Given the description of an element on the screen output the (x, y) to click on. 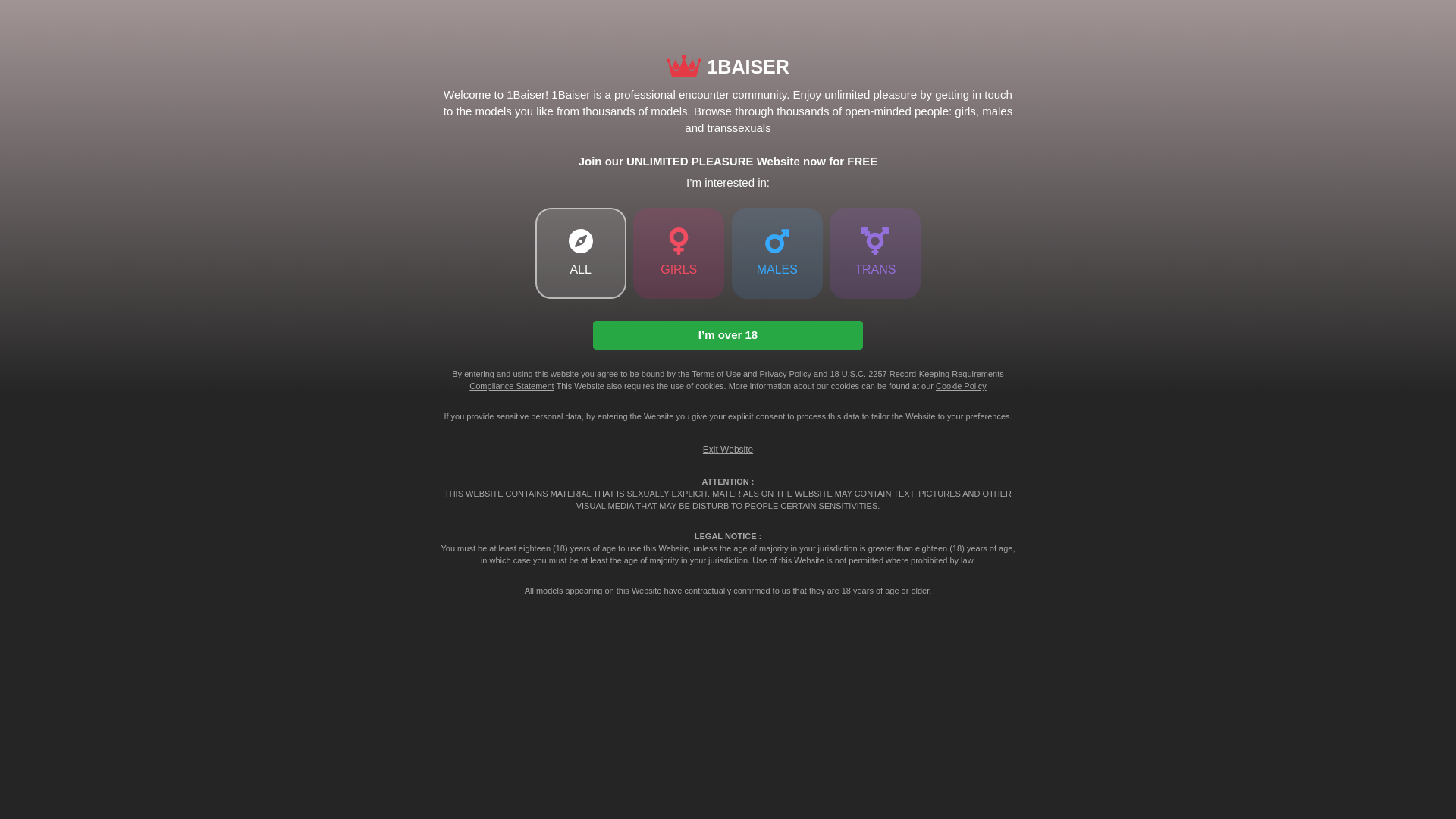
Seine-et-Marne
31 Element type: text (728, 134)
Paris
314 Element type: text (150, 65)
Gironde
35 Element type: text (728, 65)
Montpellier
23 Element type: text (1305, 65)
Nantes
28 Element type: text (1016, 111)
Nice
22 Element type: text (1305, 111)
Seine-Saint-Denis
39 Element type: text (439, 88)
Sign up Element type: text (1406, 19)
Haute-Savoie
20 Element type: text (1305, 157)
Nord
48 Element type: text (150, 157)
Terms of Use Element type: text (715, 373)
Sign in Element type: text (1307, 19)
Val-de-Marne
33 Element type: text (728, 111)
Lyon
61 Element type: text (150, 88)
Herault
38 Element type: text (439, 134)
Loire-Atlantique
34 Element type: text (728, 88)
Cookie Policy Element type: text (960, 385)
Privacy Policy Element type: text (785, 373)
Haute-Garonne
56 Element type: text (150, 111)
1BAISER Element type: text (727, 66)
Toulouse
47 Element type: text (439, 65)
Menubar Element type: hover (17, 19)
Bordeaux
31 Element type: text (1016, 65)
Bas-Rhin
21 Element type: text (1305, 134)
Moselle
23 Element type: text (1016, 157)
Marseille
51 Element type: text (150, 134)
Yvelines
38 Element type: text (439, 111)
Hauts-de-Seine
37 Element type: text (439, 157)
Val-d'Oise
28 Element type: text (1016, 88)
Exit Website Element type: text (727, 449)
1BAISER Element type: text (94, 19)
Lille
31 Element type: text (728, 157)
Essonne
22 Element type: text (1305, 88)
